Given the description of an element on the screen output the (x, y) to click on. 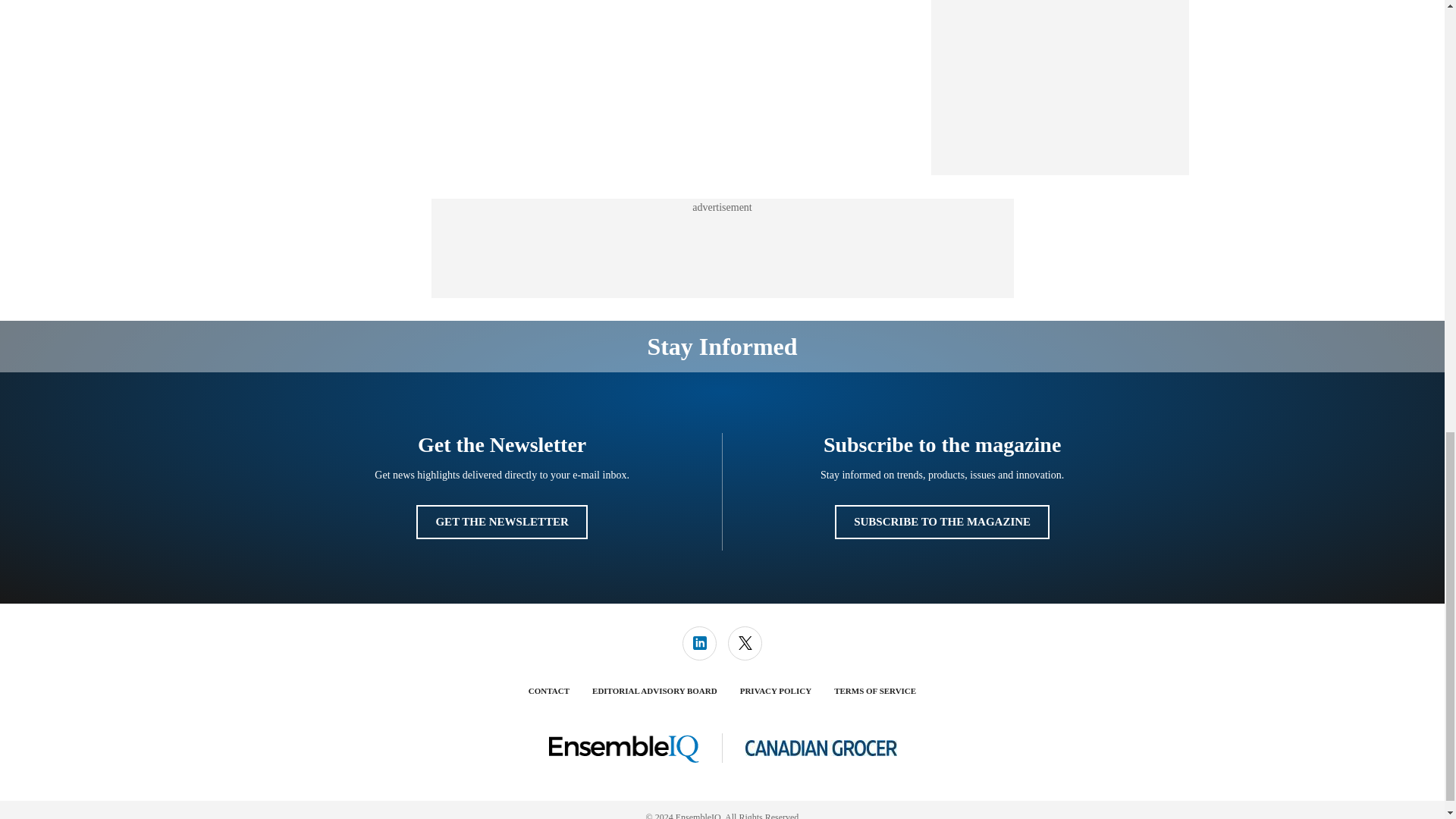
3rd party ad content (1059, 79)
3rd party ad content (721, 248)
